Given the description of an element on the screen output the (x, y) to click on. 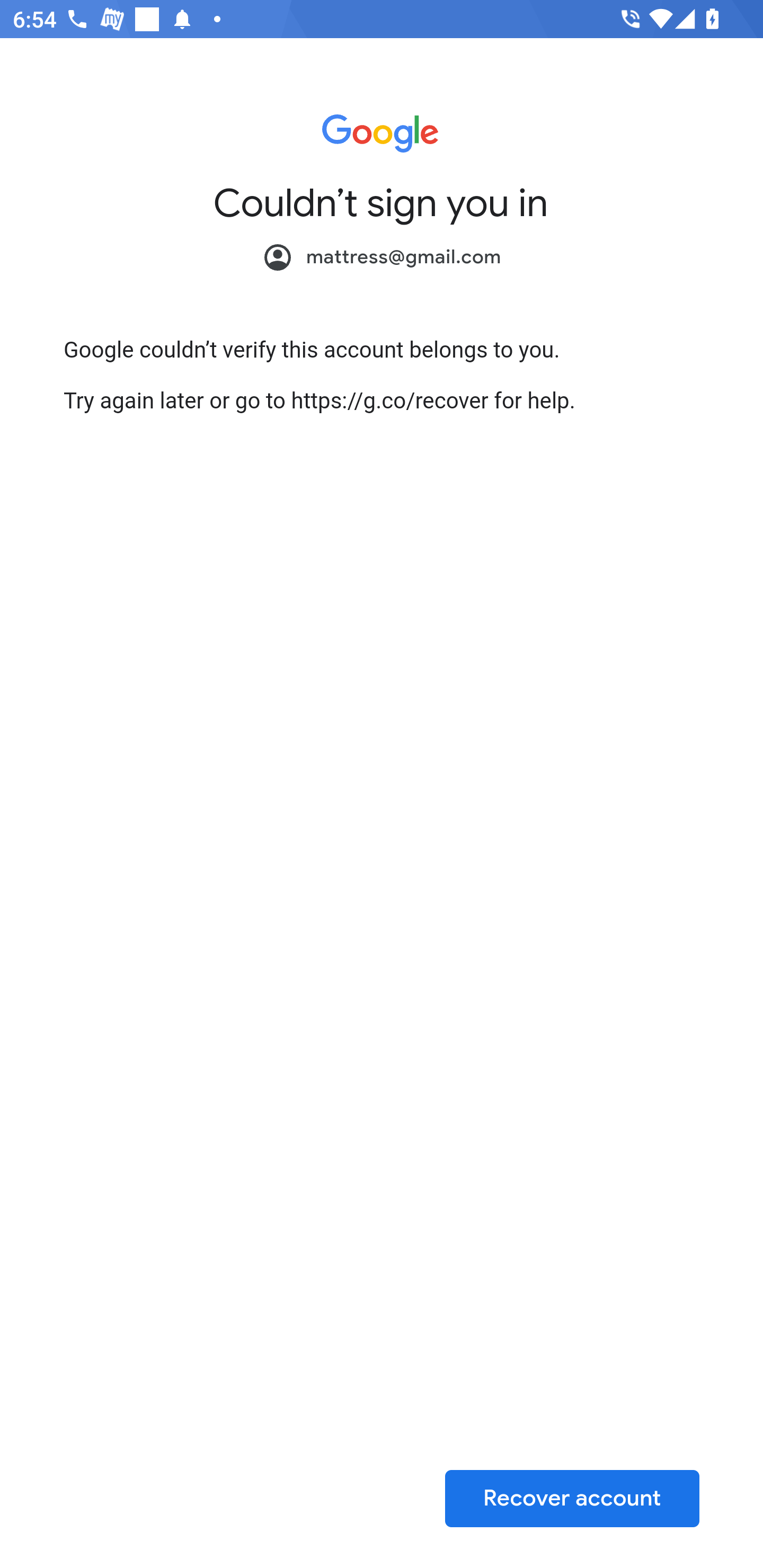
Recover account (571, 1497)
